Given the description of an element on the screen output the (x, y) to click on. 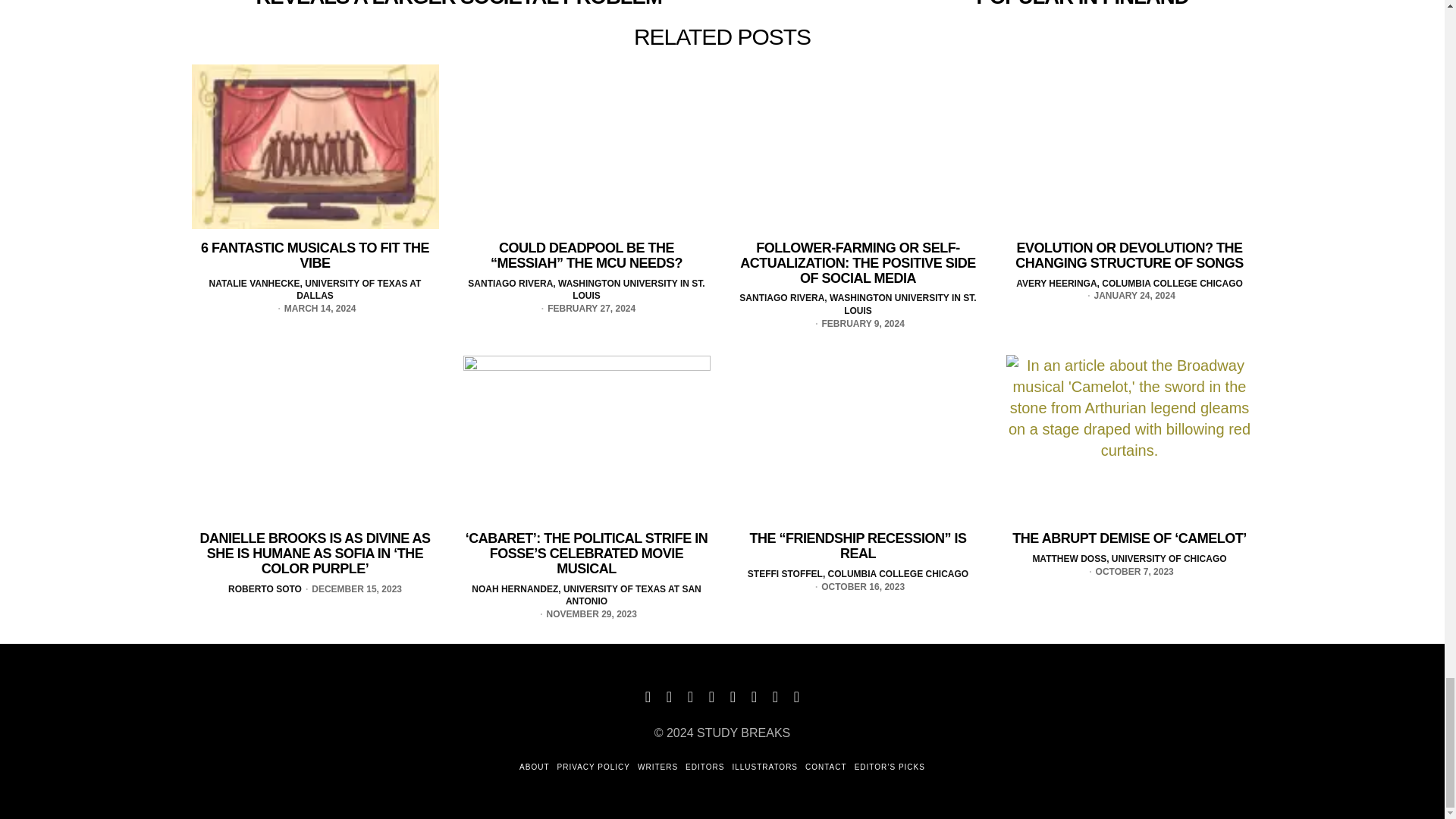
29 Nov, 2023 10:15:30 (586, 614)
27 Feb, 2024 14:43:00 (585, 308)
14 Mar, 2024 12:49:00 (314, 308)
24 Jan, 2024 15:34:45 (1128, 295)
15 Dec, 2023 12:32:15 (351, 589)
09 Feb, 2024 03:04:00 (857, 323)
07 Oct, 2023 11:49:29 (1128, 571)
16 Oct, 2023 13:34:00 (857, 586)
